Given the description of an element on the screen output the (x, y) to click on. 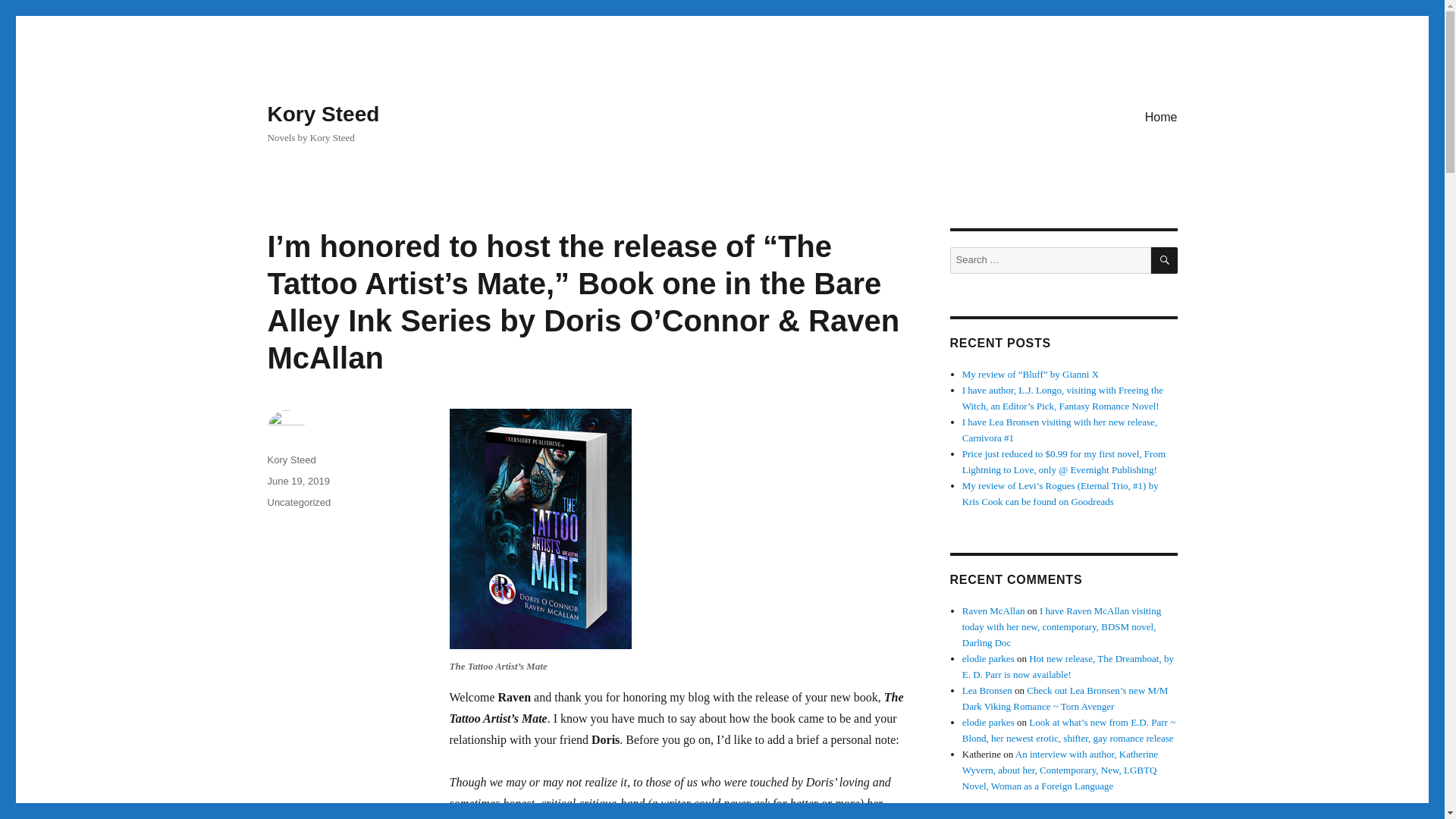
elodie parkes (988, 722)
SEARCH (1164, 260)
elodie parkes (988, 658)
Lea Bronsen (986, 690)
Home (1161, 116)
Raven McAllan (993, 610)
Uncategorized (298, 501)
